Given the description of an element on the screen output the (x, y) to click on. 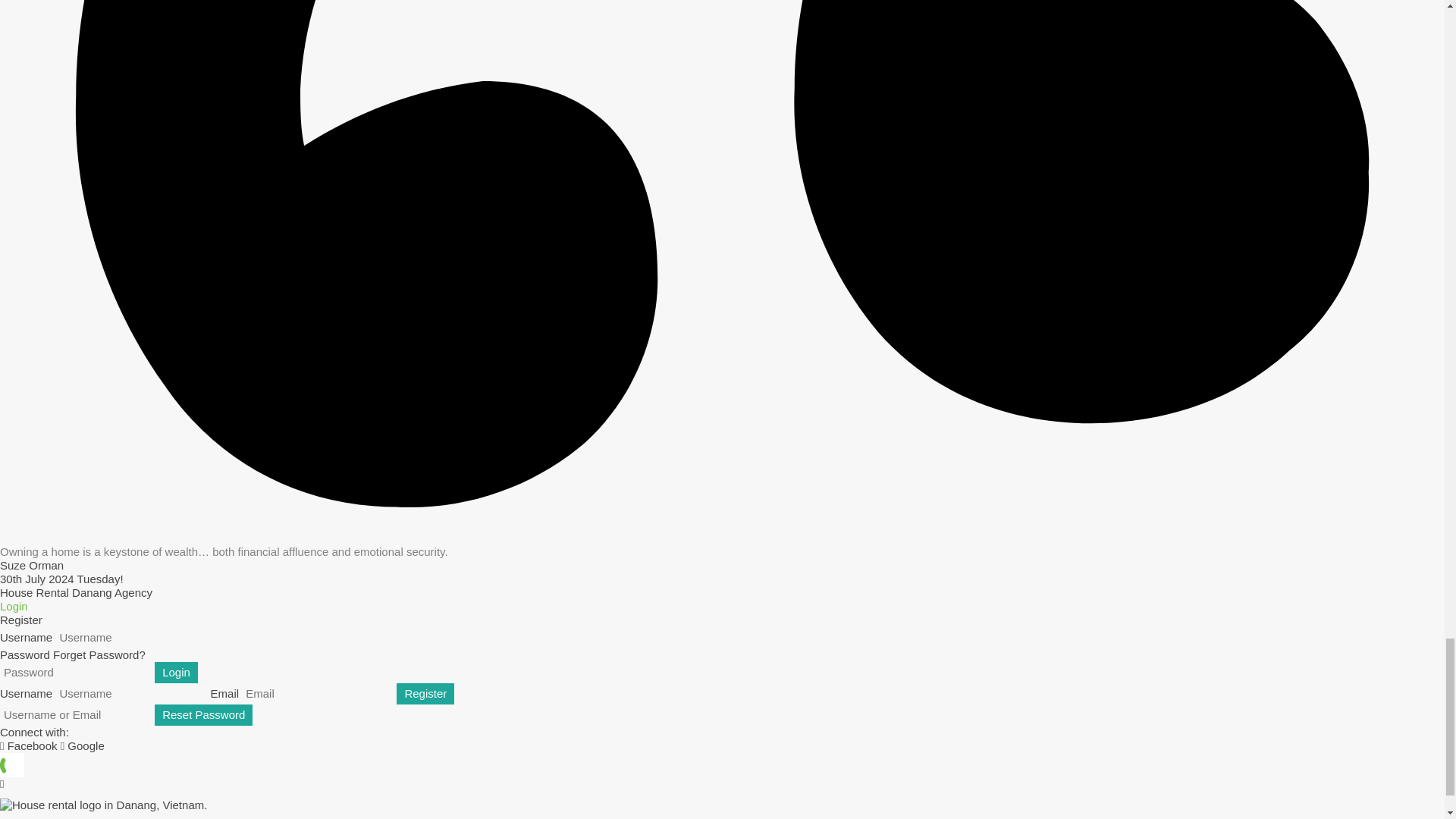
Username or Email (75, 714)
Username (130, 693)
Email (317, 693)
Username (130, 637)
Password (75, 672)
